Given the description of an element on the screen output the (x, y) to click on. 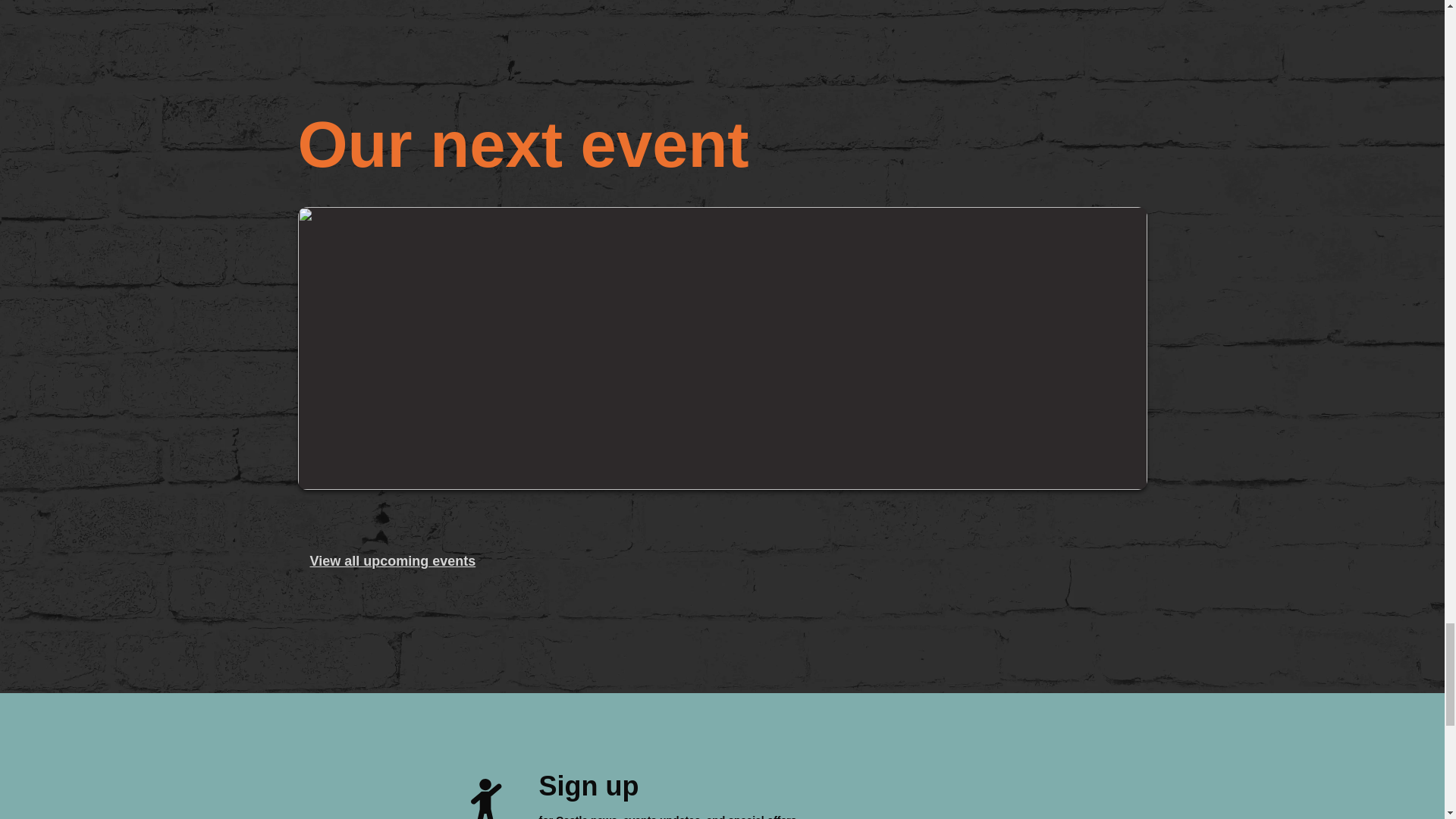
View all upcoming events (392, 560)
